Given the description of an element on the screen output the (x, y) to click on. 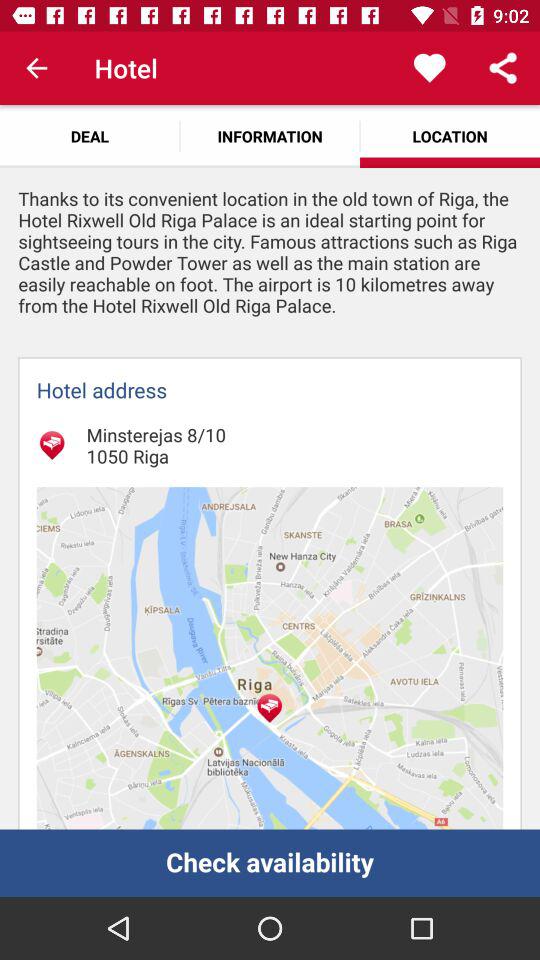
open map (269, 658)
